Given the description of an element on the screen output the (x, y) to click on. 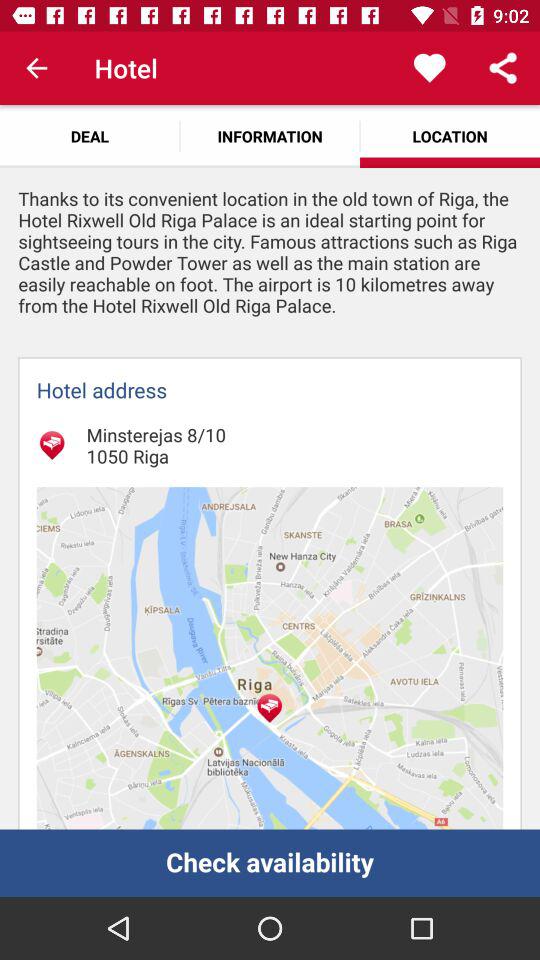
open map (269, 658)
